Given the description of an element on the screen output the (x, y) to click on. 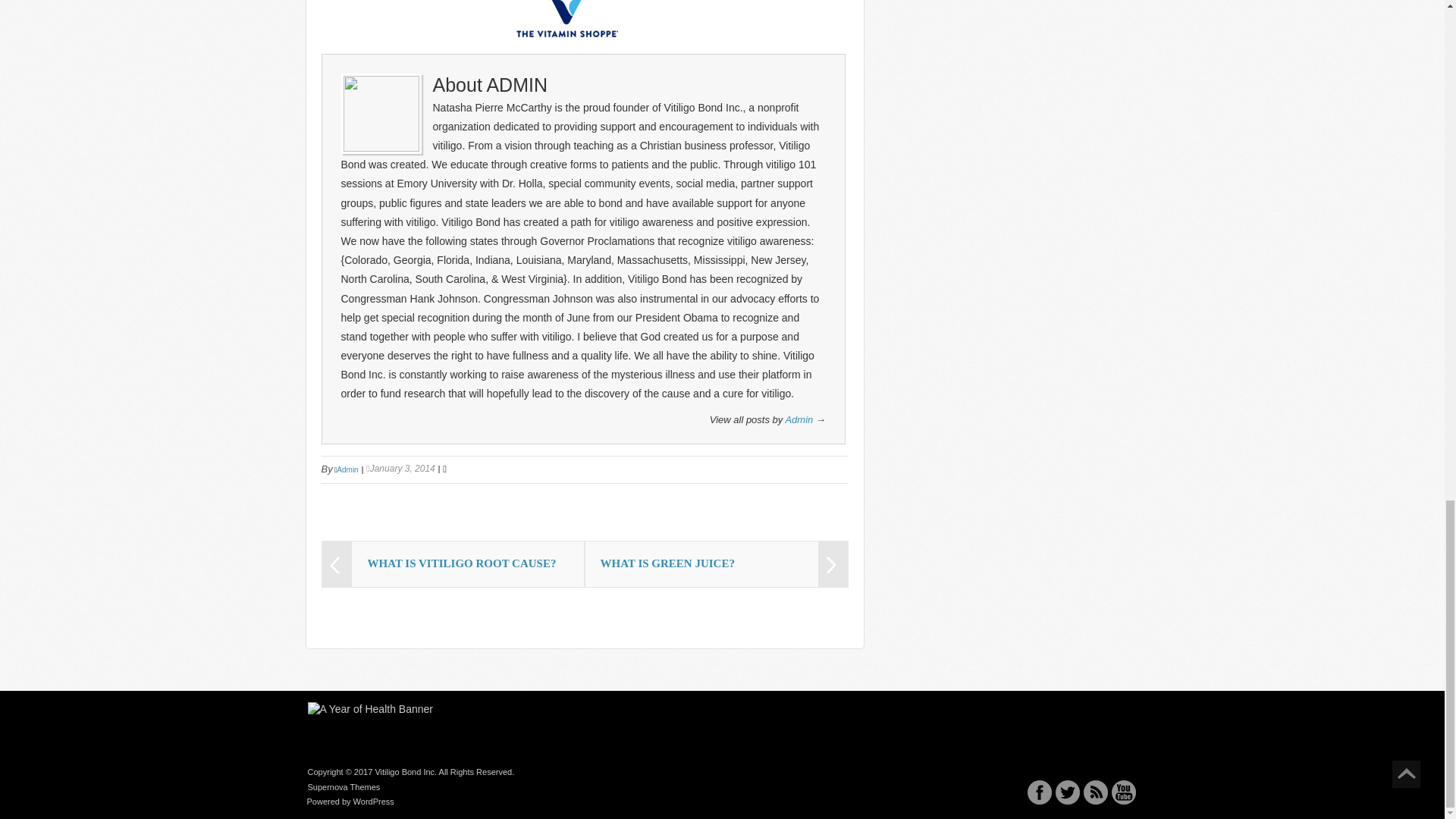
Posts by admin (798, 419)
Posts by admin (516, 84)
RSS (1094, 792)
View all posts by admin (347, 470)
YouTube (1123, 792)
Facebook (1038, 792)
Twitter (1067, 792)
